Given the description of an element on the screen output the (x, y) to click on. 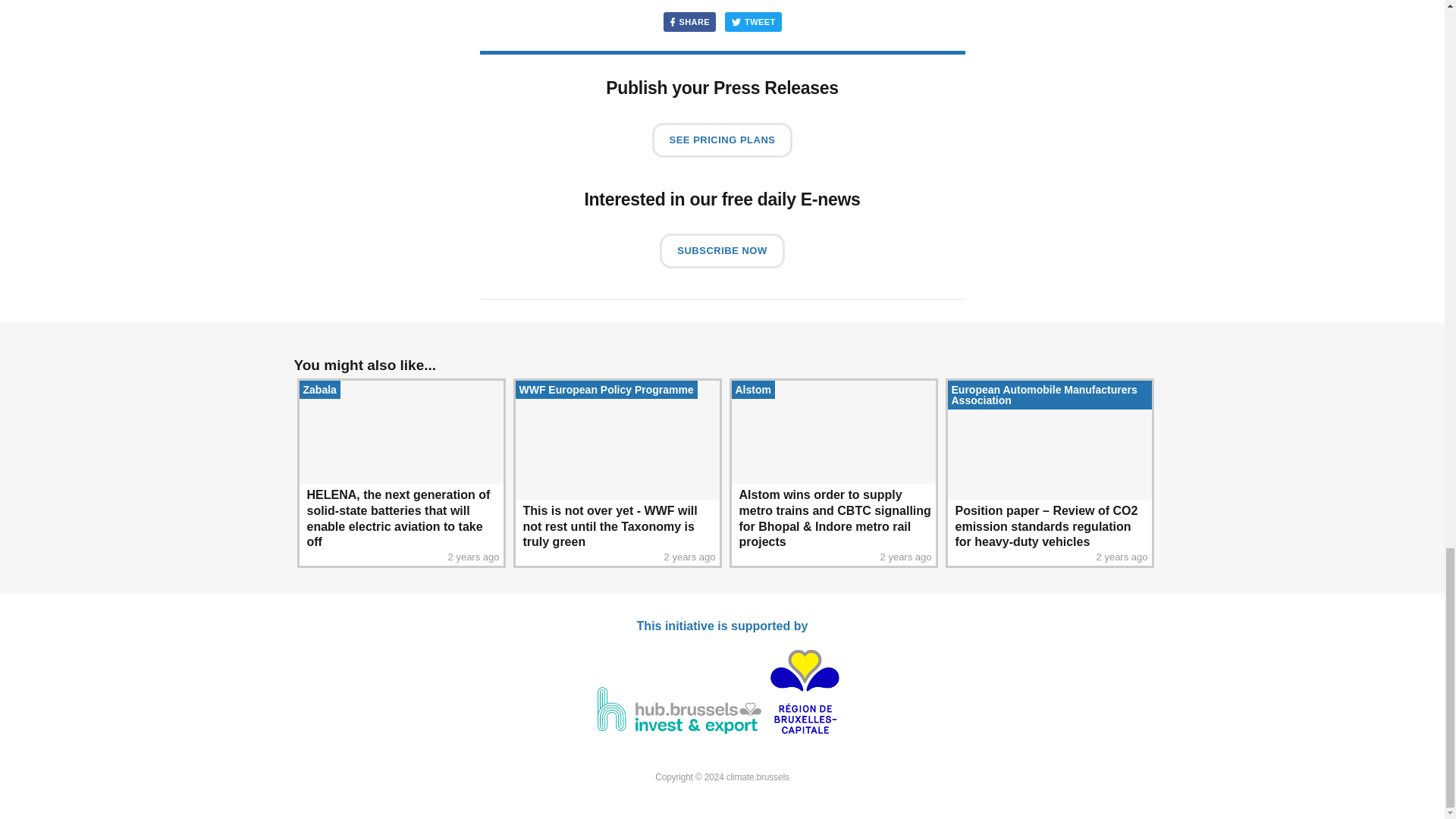
TWEET (753, 21)
SHARE (689, 21)
SEE PRICING PLANS (722, 140)
SUBSCRIBE NOW (721, 250)
